Given the description of an element on the screen output the (x, y) to click on. 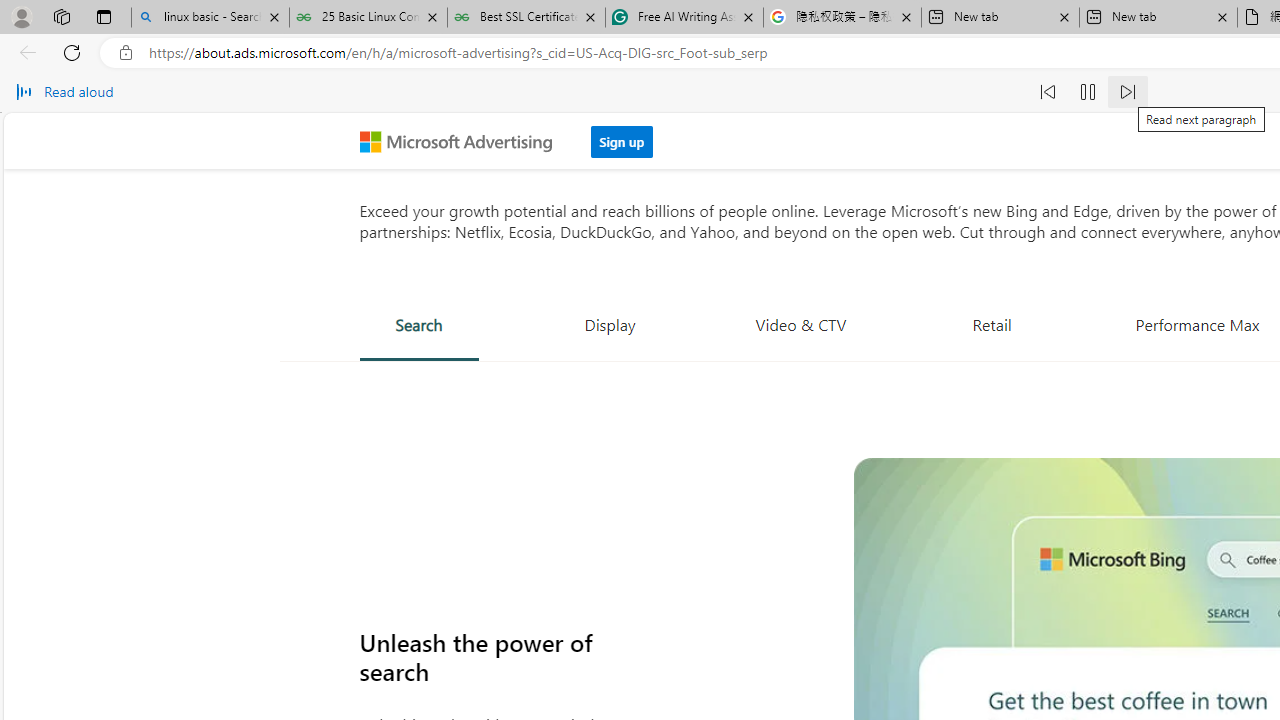
Sign up (622, 141)
Free AI Writing Assistance for Students | Grammarly (683, 17)
Display (609, 324)
Retail (991, 324)
Best SSL Certificates Provider in India - GeeksforGeeks (526, 17)
